Given the description of an element on the screen output the (x, y) to click on. 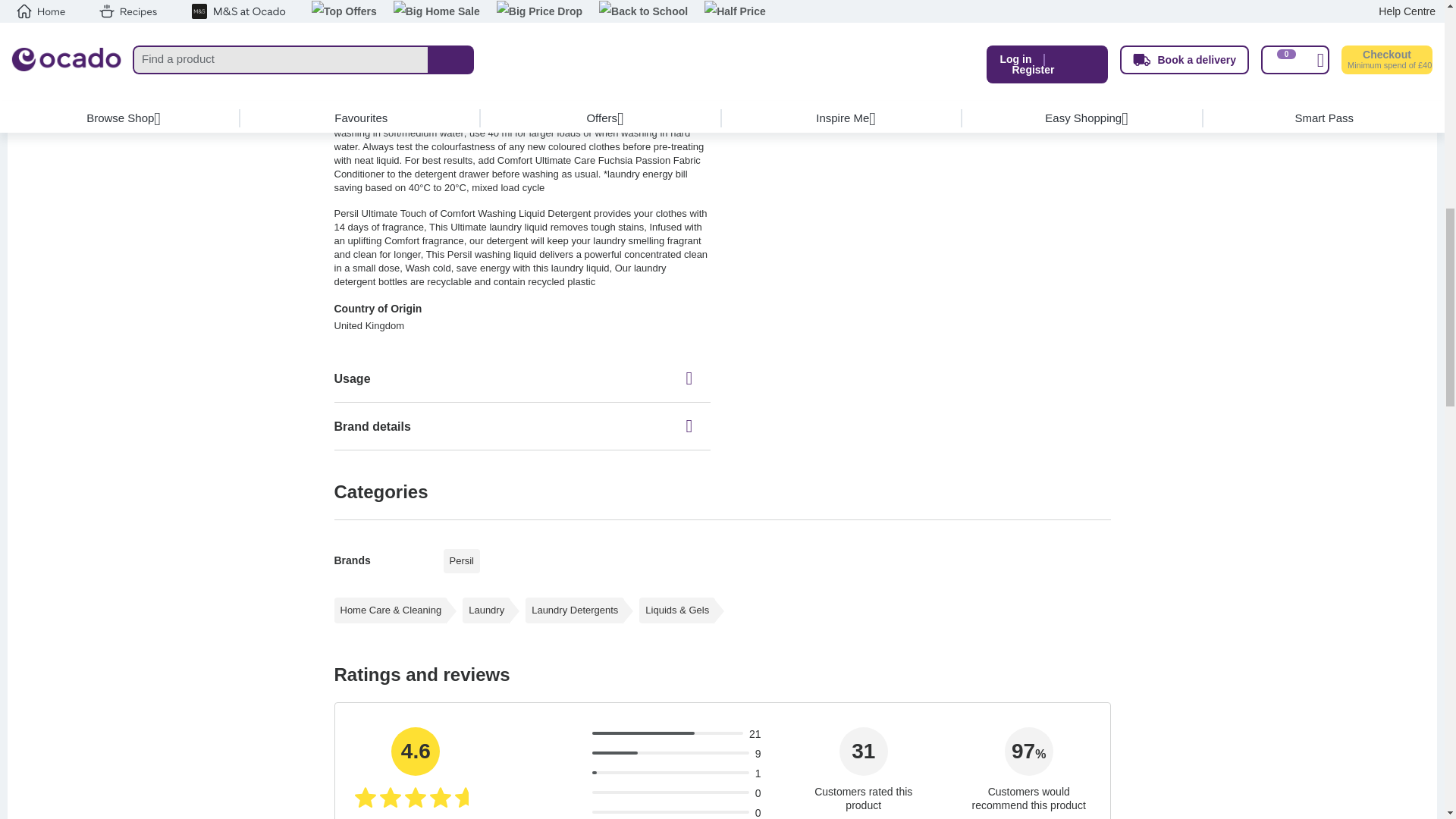
Laundry Detergents (574, 610)
Reviews 3.4 of 5 (642, 733)
2 star reviews (569, 793)
4 star reviews (556, 754)
3 star reviews (563, 774)
1 star reviews (576, 813)
5 star reviews (550, 734)
Laundry (487, 610)
Reviews 1.5 of 5 (614, 752)
Brand details (521, 426)
